Given the description of an element on the screen output the (x, y) to click on. 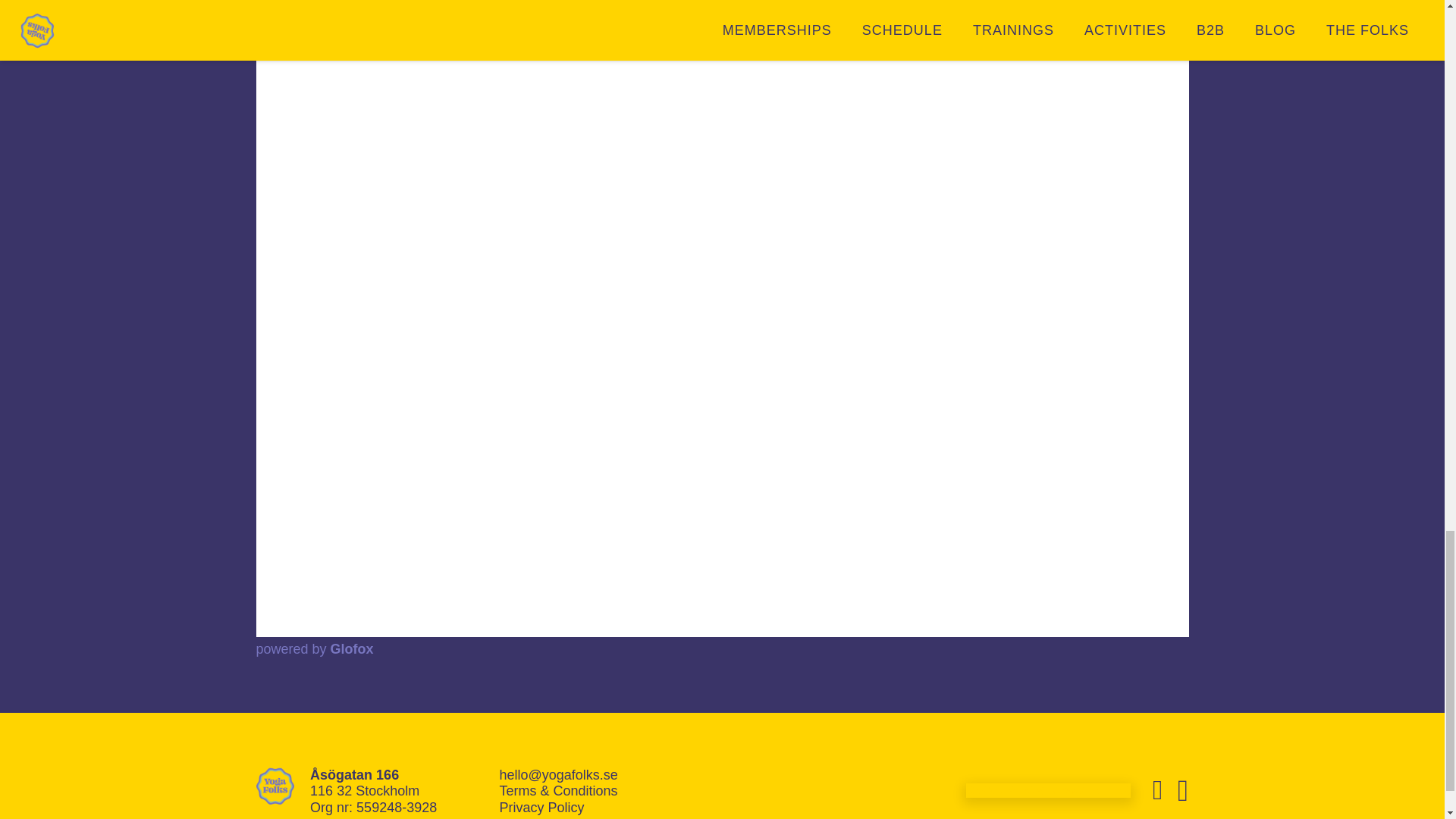
powered by Glofox (315, 648)
Privacy Policy (541, 807)
SIGN UP FOR NEWSLETTER (1048, 789)
